Given the description of an element on the screen output the (x, y) to click on. 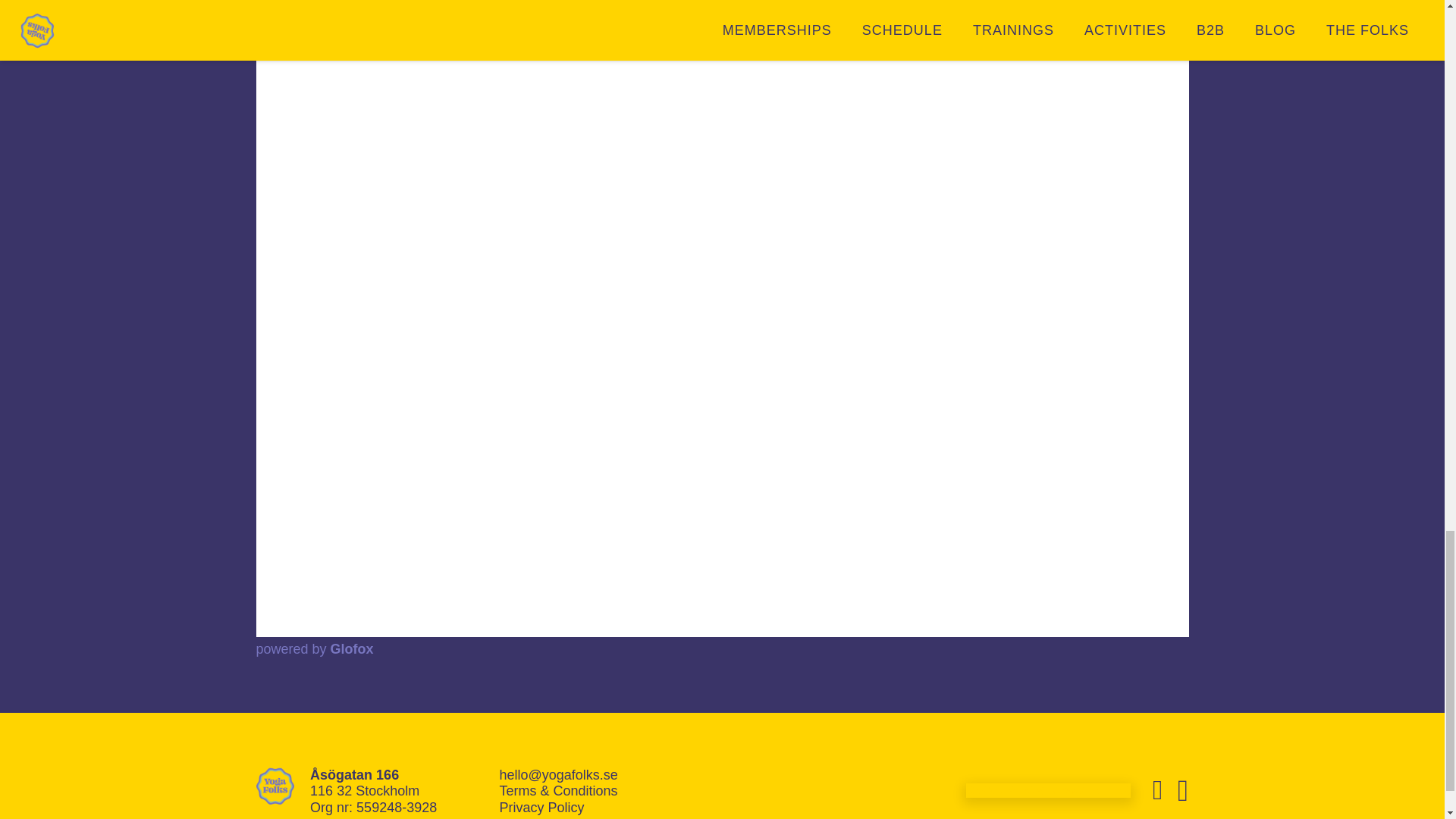
powered by Glofox (315, 648)
Privacy Policy (541, 807)
SIGN UP FOR NEWSLETTER (1048, 789)
